Given the description of an element on the screen output the (x, y) to click on. 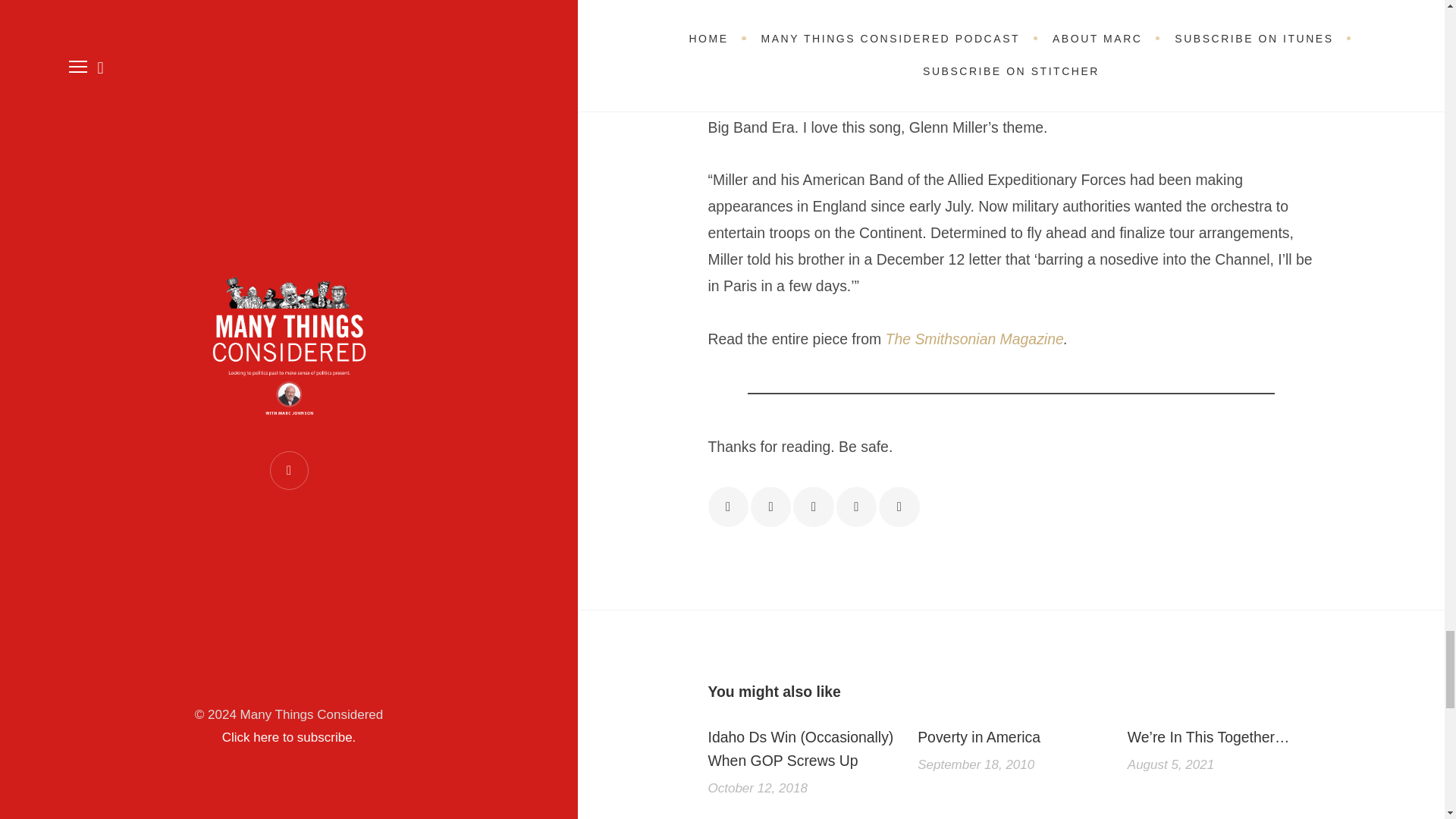
Poverty in America (1011, 737)
Pin It (855, 506)
Share on Facebook (727, 506)
The Smithsonian Magazine (974, 338)
Share on Tumblr (898, 506)
Tweet It (770, 506)
Share on Google Plus (812, 506)
